Given the description of an element on the screen output the (x, y) to click on. 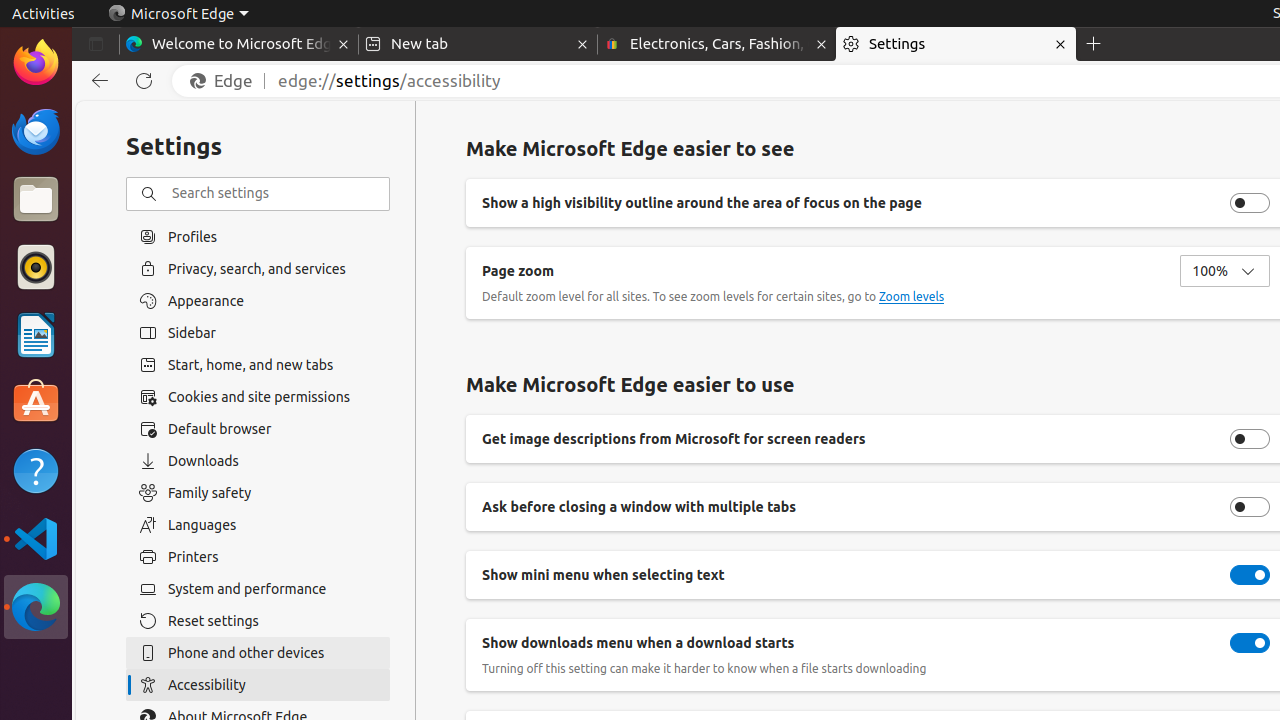
Printers Element type: tree-item (258, 557)
Help Element type: push-button (36, 470)
Phone and other devices Element type: tree-item (258, 653)
Microsoft Edge Element type: menu (178, 13)
Back Element type: push-button (96, 81)
